Given the description of an element on the screen output the (x, y) to click on. 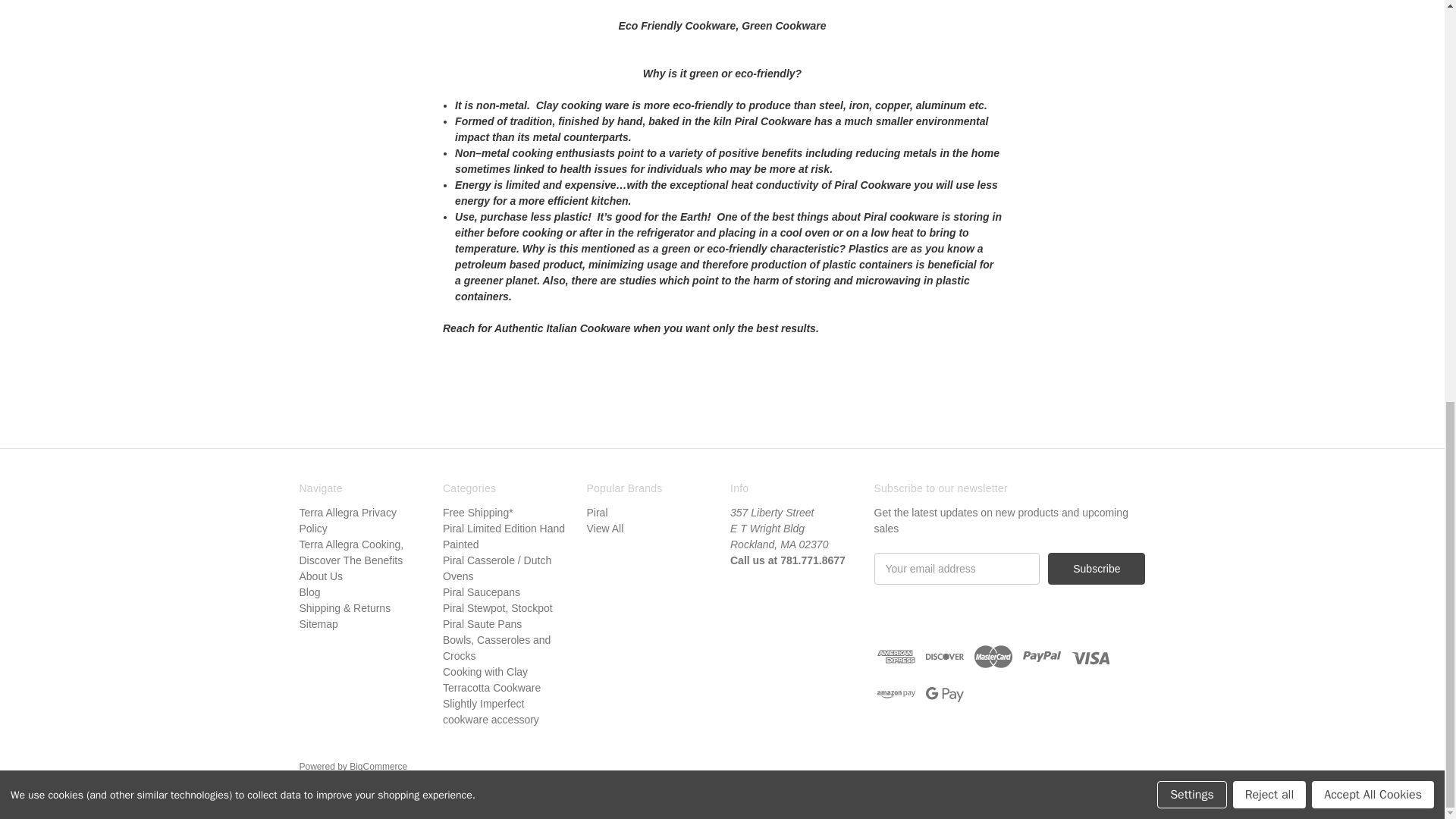
Piral Limited Edition Hand Painted (503, 536)
About Us (320, 576)
Terra Allegra Cooking, Discover The Benefits (350, 552)
Blog (309, 592)
Subscribe (1096, 568)
Terra Allegra Privacy Policy (347, 520)
Sitemap (317, 623)
